Given the description of an element on the screen output the (x, y) to click on. 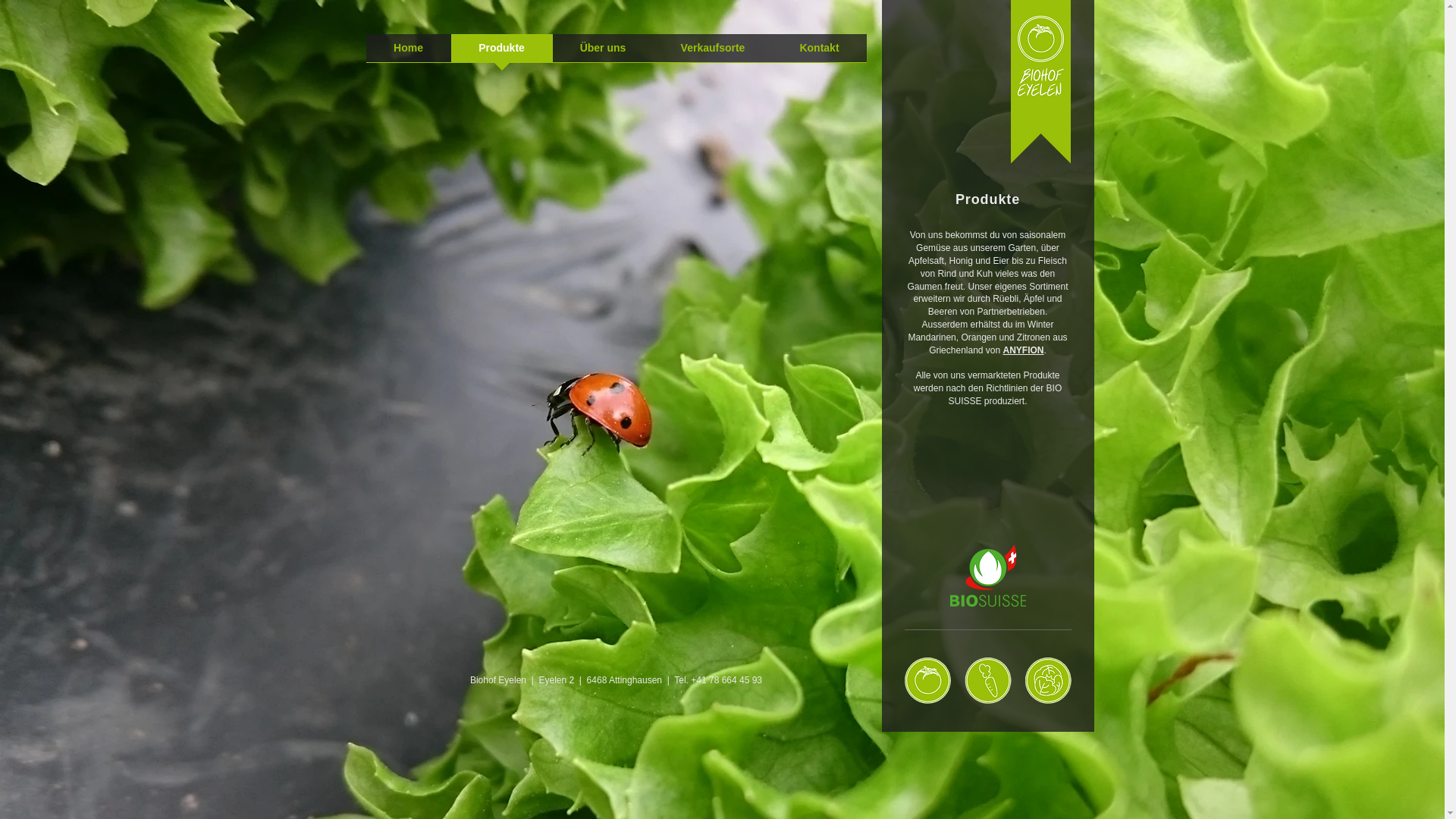
Produkte Element type: text (501, 53)
biosuisse Element type: hover (987, 575)
Verkaufsorte Element type: text (712, 53)
Fusszeilen_Icons.png Element type: hover (986, 680)
ANYFION Element type: text (1023, 350)
Home Element type: text (407, 53)
Kontakt Element type: text (818, 53)
